Given the description of an element on the screen output the (x, y) to click on. 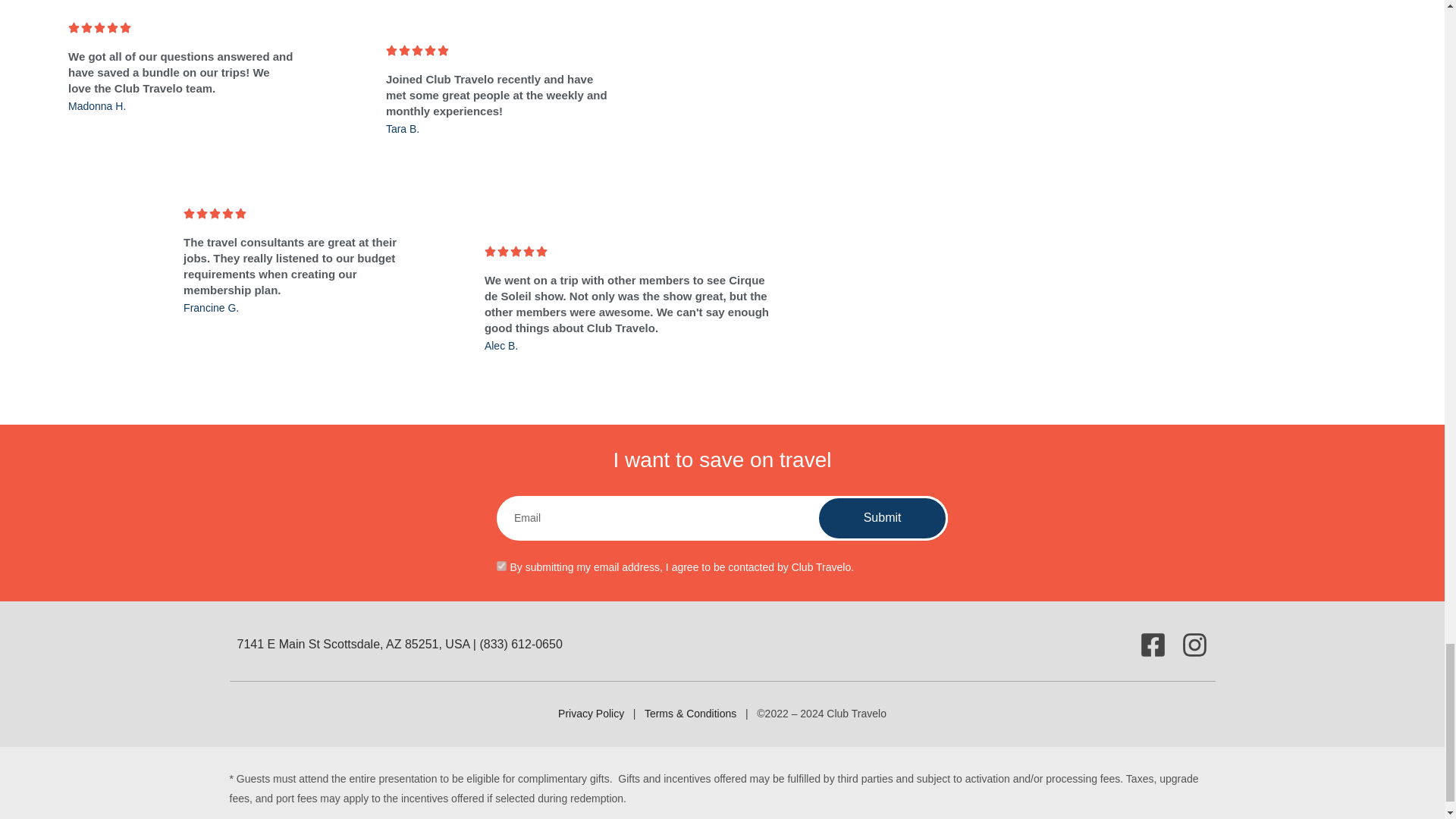
Privacy Policy  (592, 713)
Instagram (1194, 644)
Facebook-square (1152, 644)
on (501, 565)
Submit (881, 518)
